Given the description of an element on the screen output the (x, y) to click on. 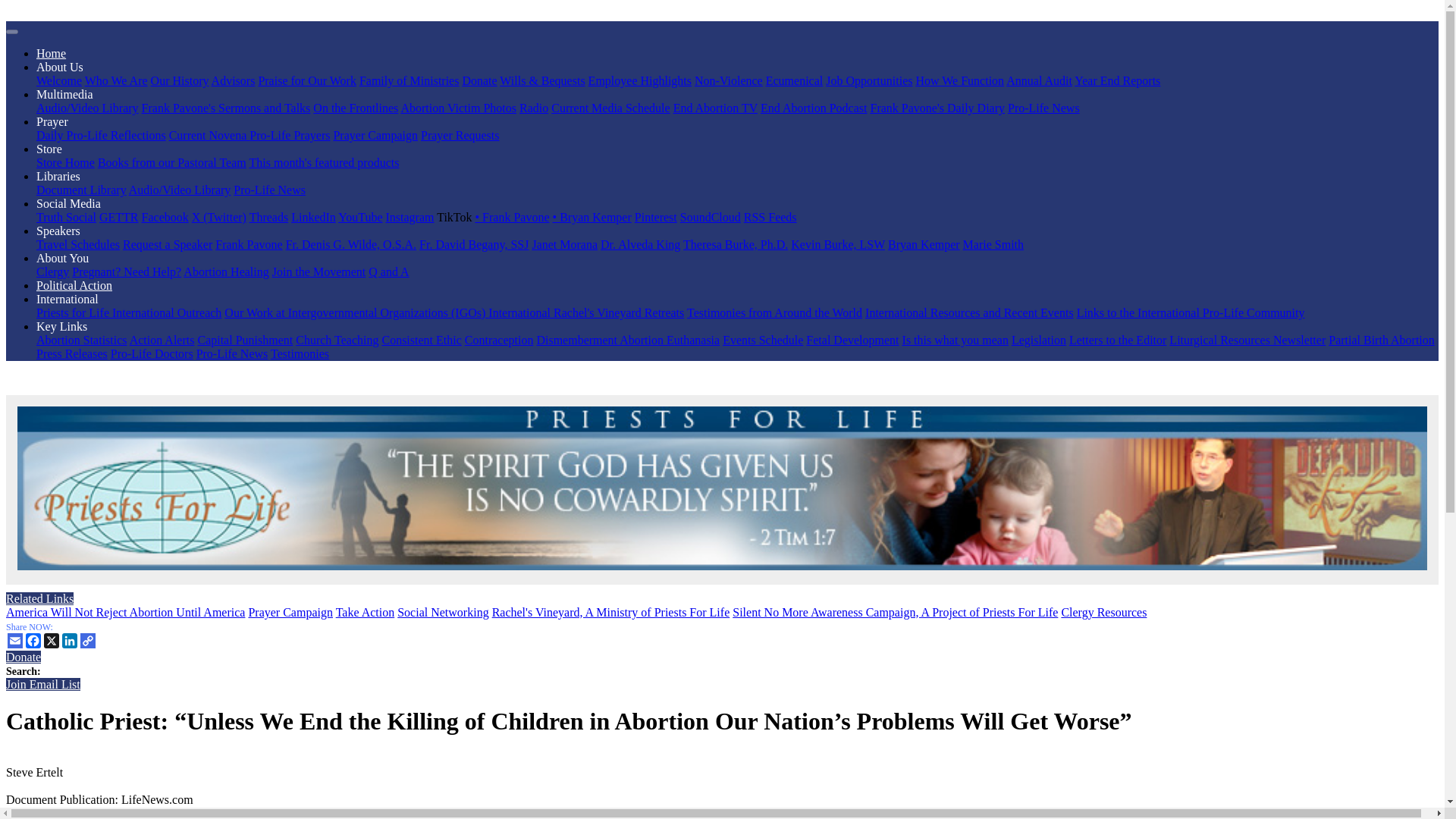
Frank Pavone's Sermons and Talks (226, 107)
Ecumenical (794, 80)
Frank Pavone's Daily Diary (936, 107)
Radio (533, 107)
Job Opportunities (868, 80)
Libraries (58, 175)
Welcome (58, 80)
How We Function (959, 80)
Prayer (52, 121)
Advisors (233, 80)
Daily Pro-Life Reflections (100, 134)
Praise for Our Work (306, 80)
Pro-Life News (1043, 107)
Who We Are (116, 80)
Pro-Life Prayers (289, 134)
